Given the description of an element on the screen output the (x, y) to click on. 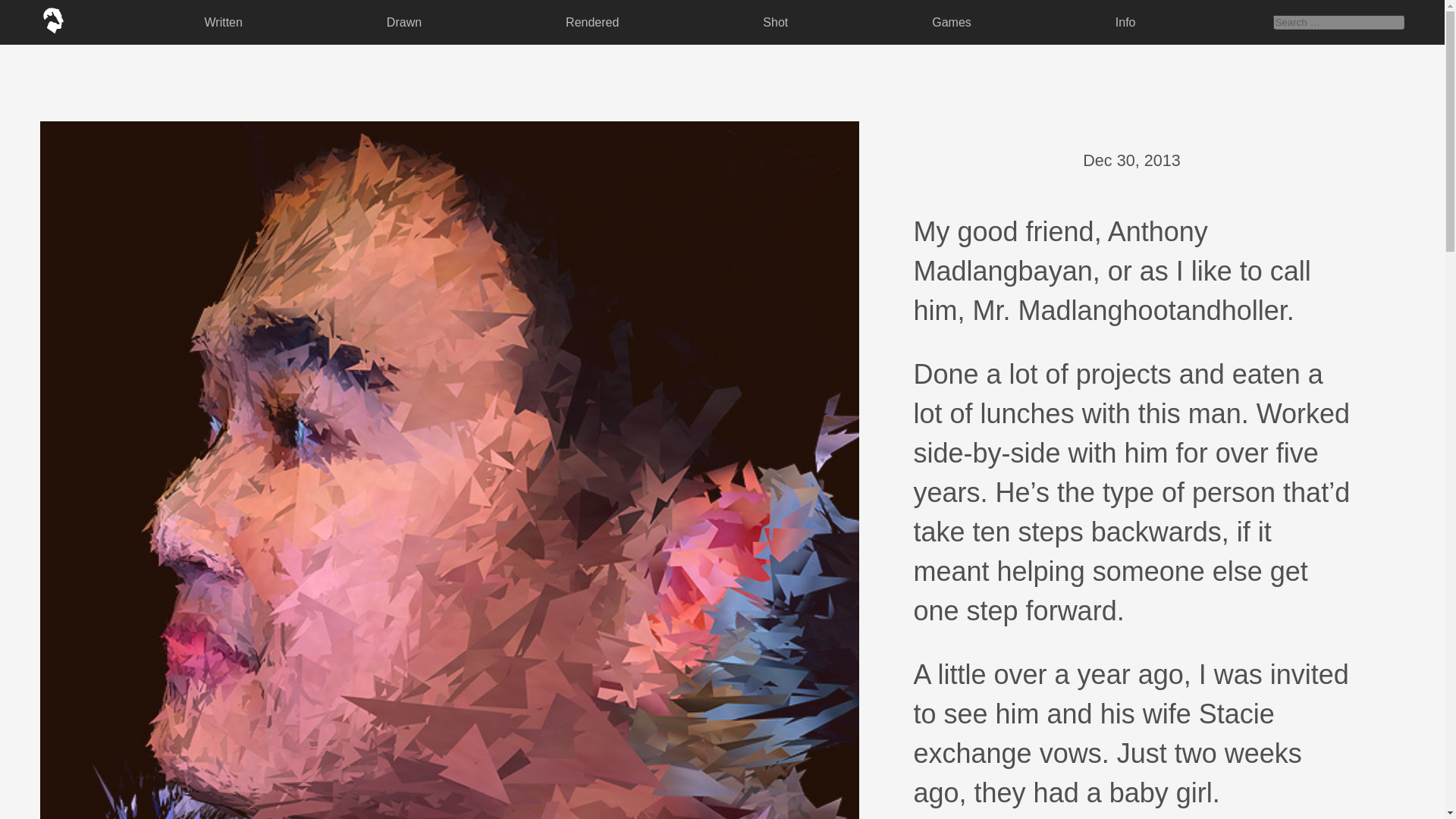
Info (1125, 21)
Games (951, 21)
Shot (775, 21)
Written (222, 21)
Rendered (591, 21)
Drawn (404, 21)
